Given the description of an element on the screen output the (x, y) to click on. 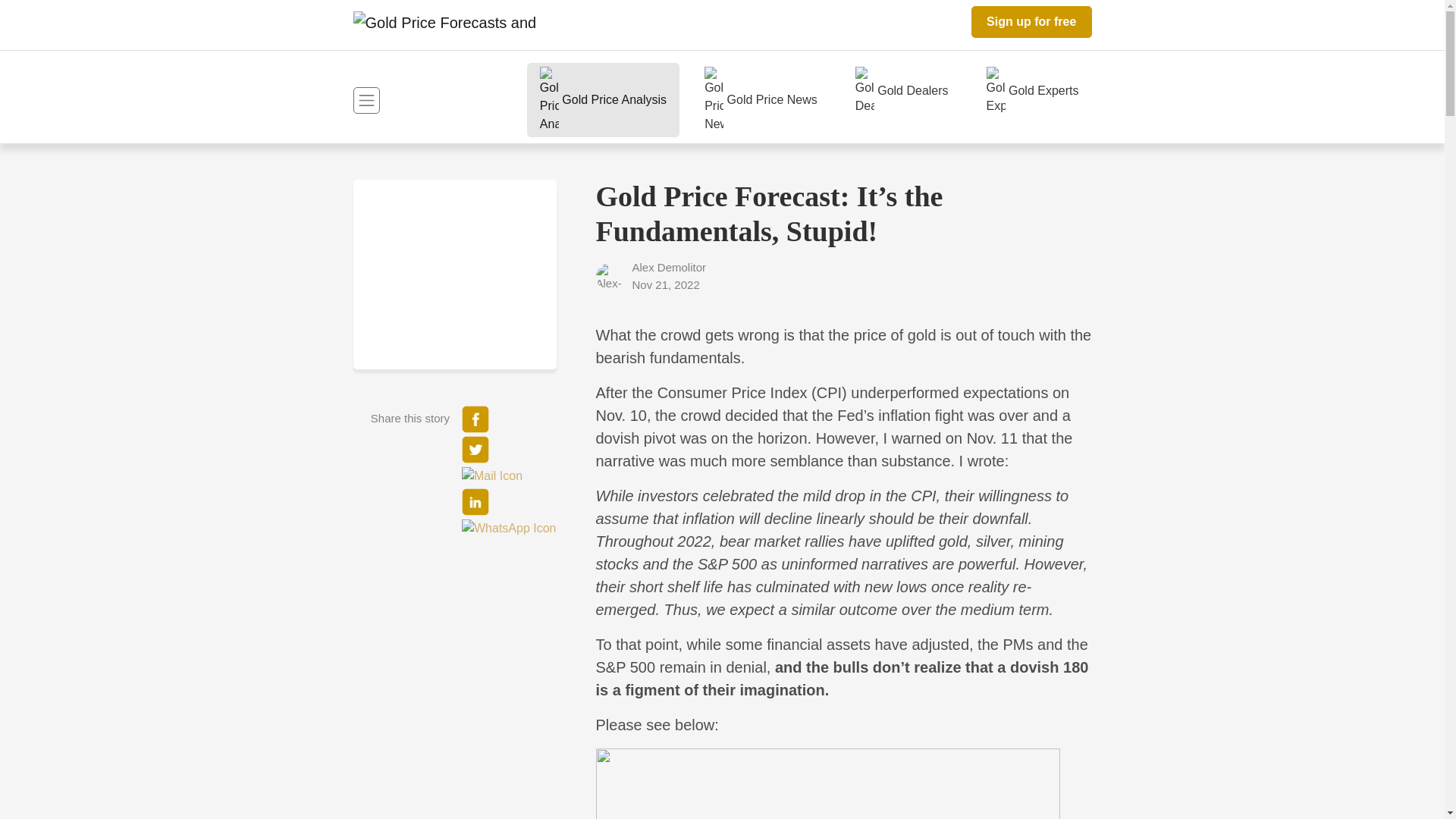
Gold Price News (760, 100)
Gold Price Analysis (603, 100)
Gold Dealers (901, 90)
Alex Demolitor (650, 275)
Sign up for free (1031, 21)
Gold Experts (1033, 90)
